Given the description of an element on the screen output the (x, y) to click on. 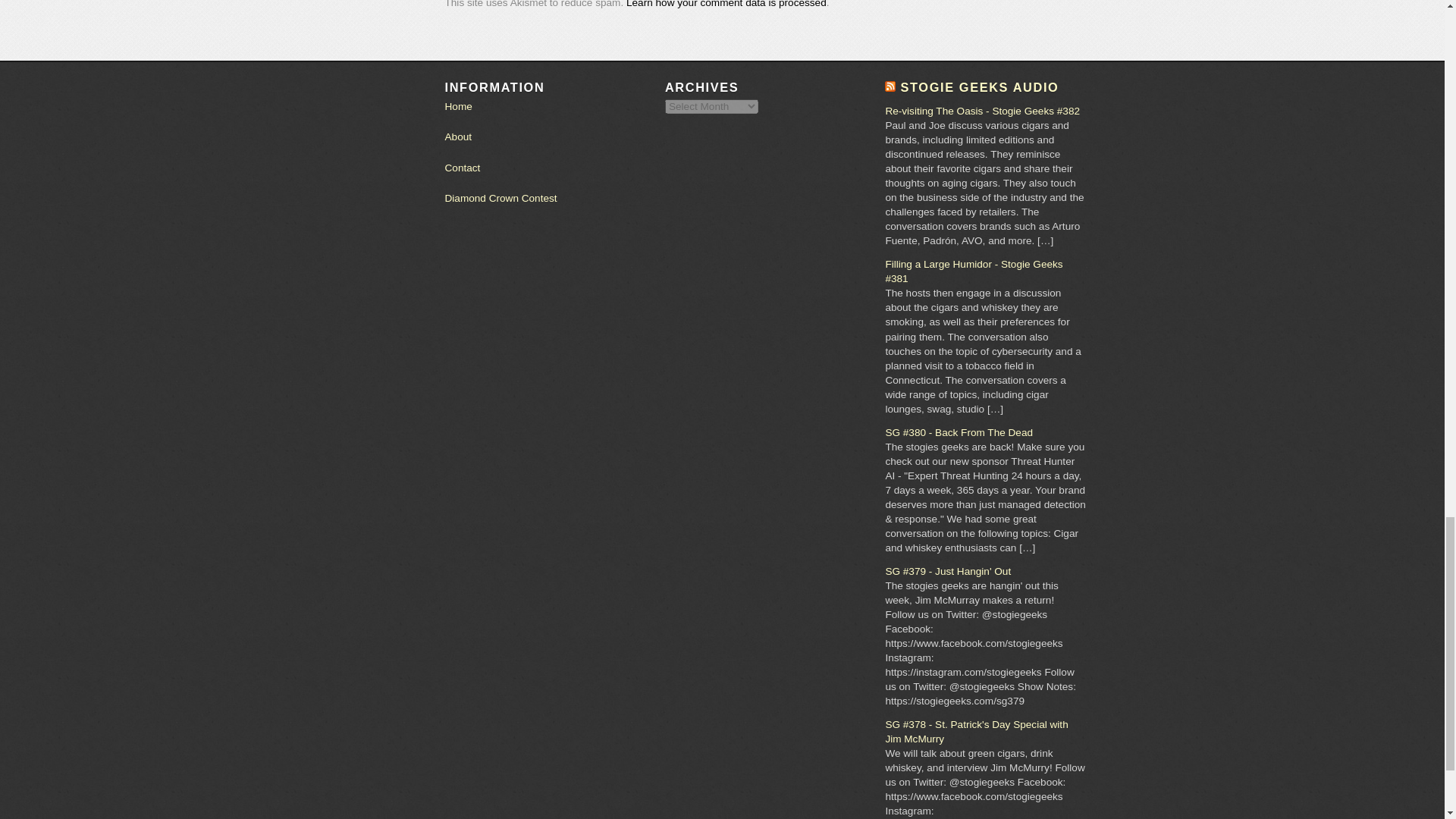
Learn how your comment data is processed (726, 4)
